Given the description of an element on the screen output the (x, y) to click on. 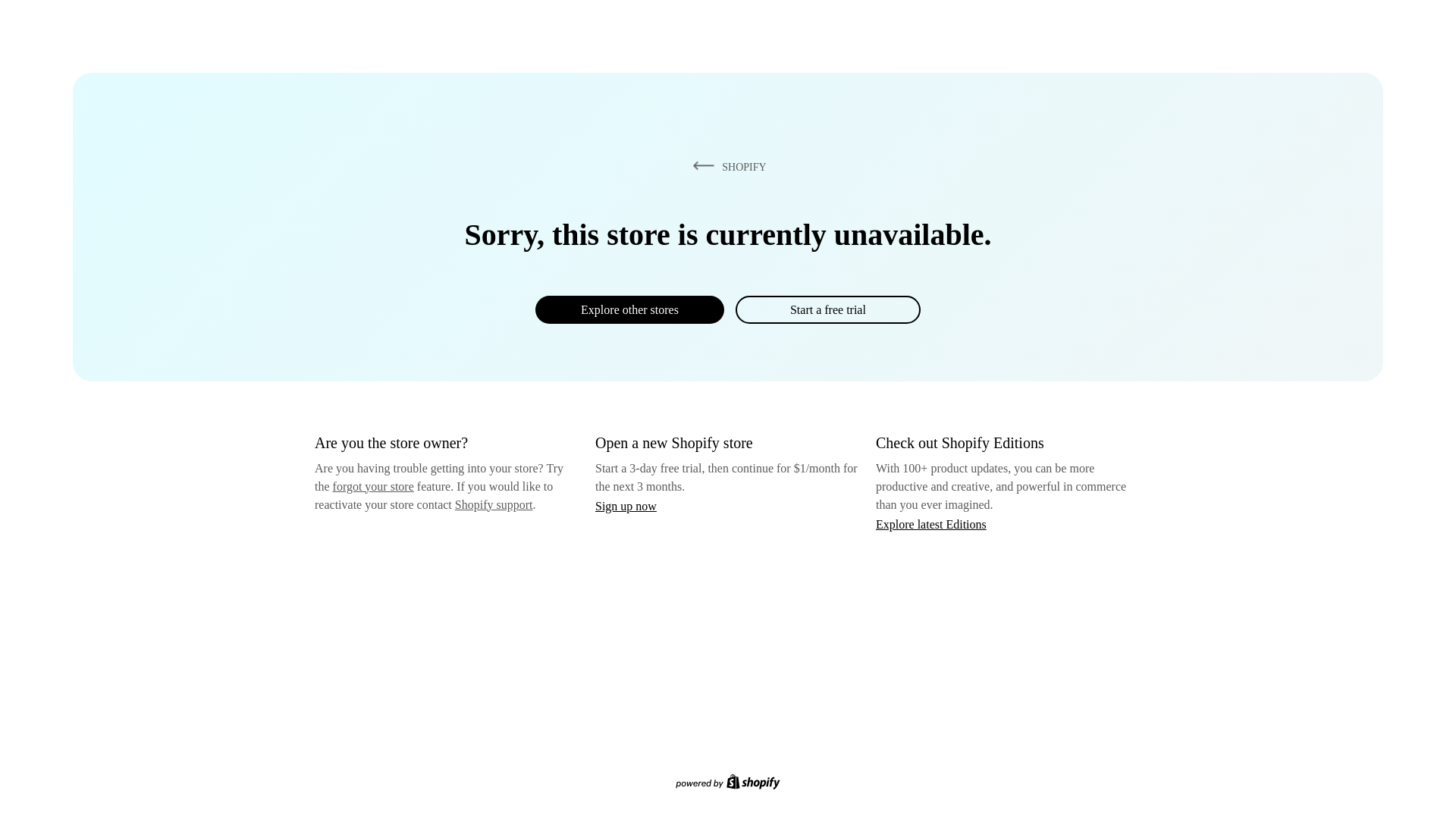
SHOPIFY (726, 166)
Explore latest Editions (931, 523)
Start a free trial (827, 309)
Sign up now (625, 505)
forgot your store (373, 486)
Explore other stores (629, 309)
Shopify support (493, 504)
